Given the description of an element on the screen output the (x, y) to click on. 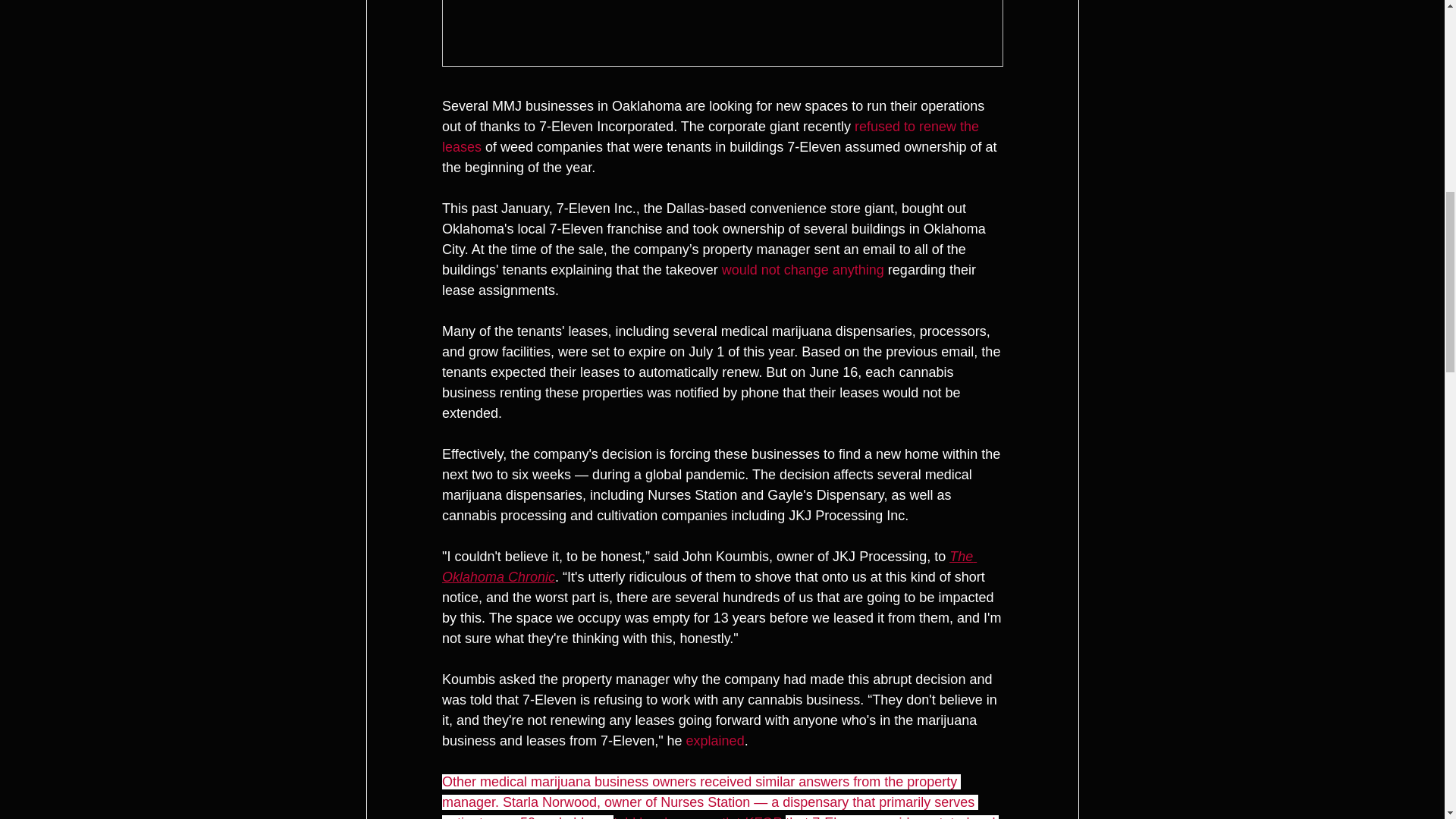
explained (714, 740)
told local news outlet  (678, 816)
The Oklahoma Chronic (708, 566)
refused to renew the leases (711, 136)
KFOR (762, 816)
would not change anything (801, 269)
